Given the description of an element on the screen output the (x, y) to click on. 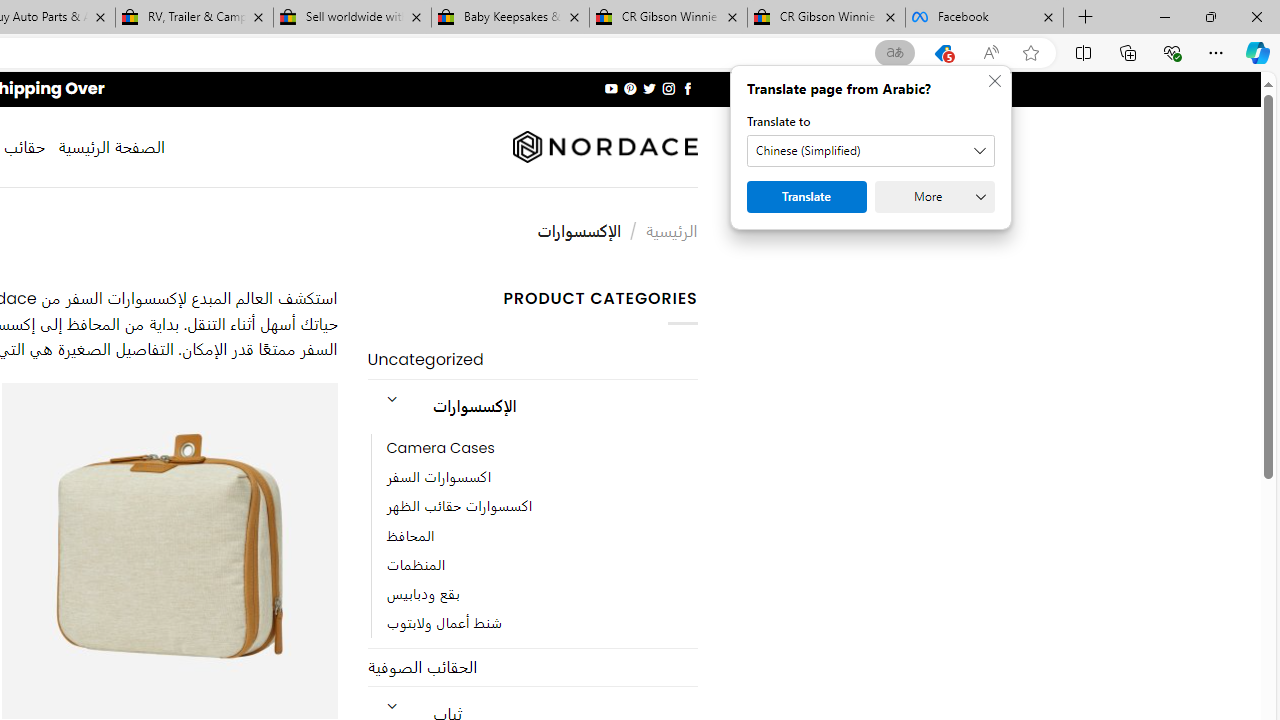
Follow on YouTube (611, 88)
Uncategorized (532, 359)
Facebook (984, 17)
Follow on Instagram (667, 88)
Translate (806, 196)
